Given the description of an element on the screen output the (x, y) to click on. 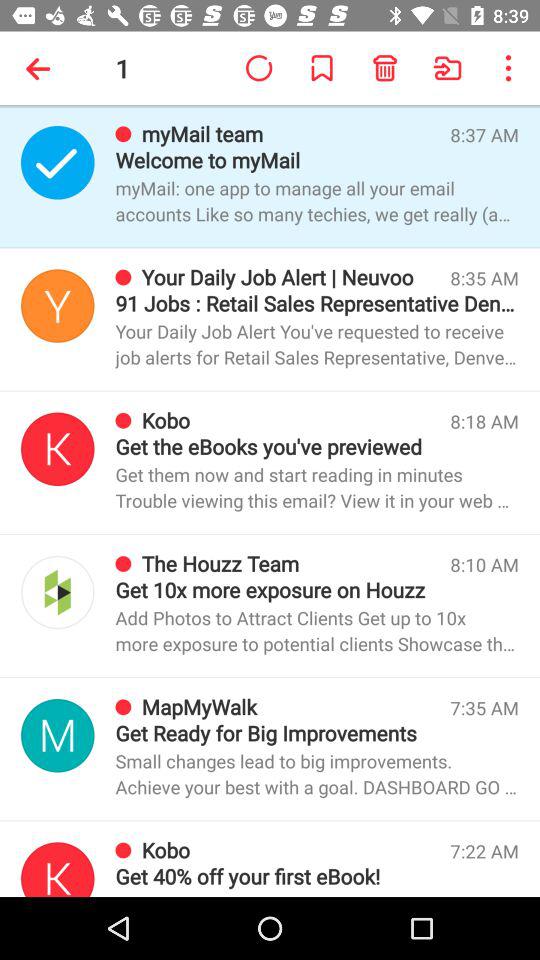
opens daily job alert (57, 305)
